Given the description of an element on the screen output the (x, y) to click on. 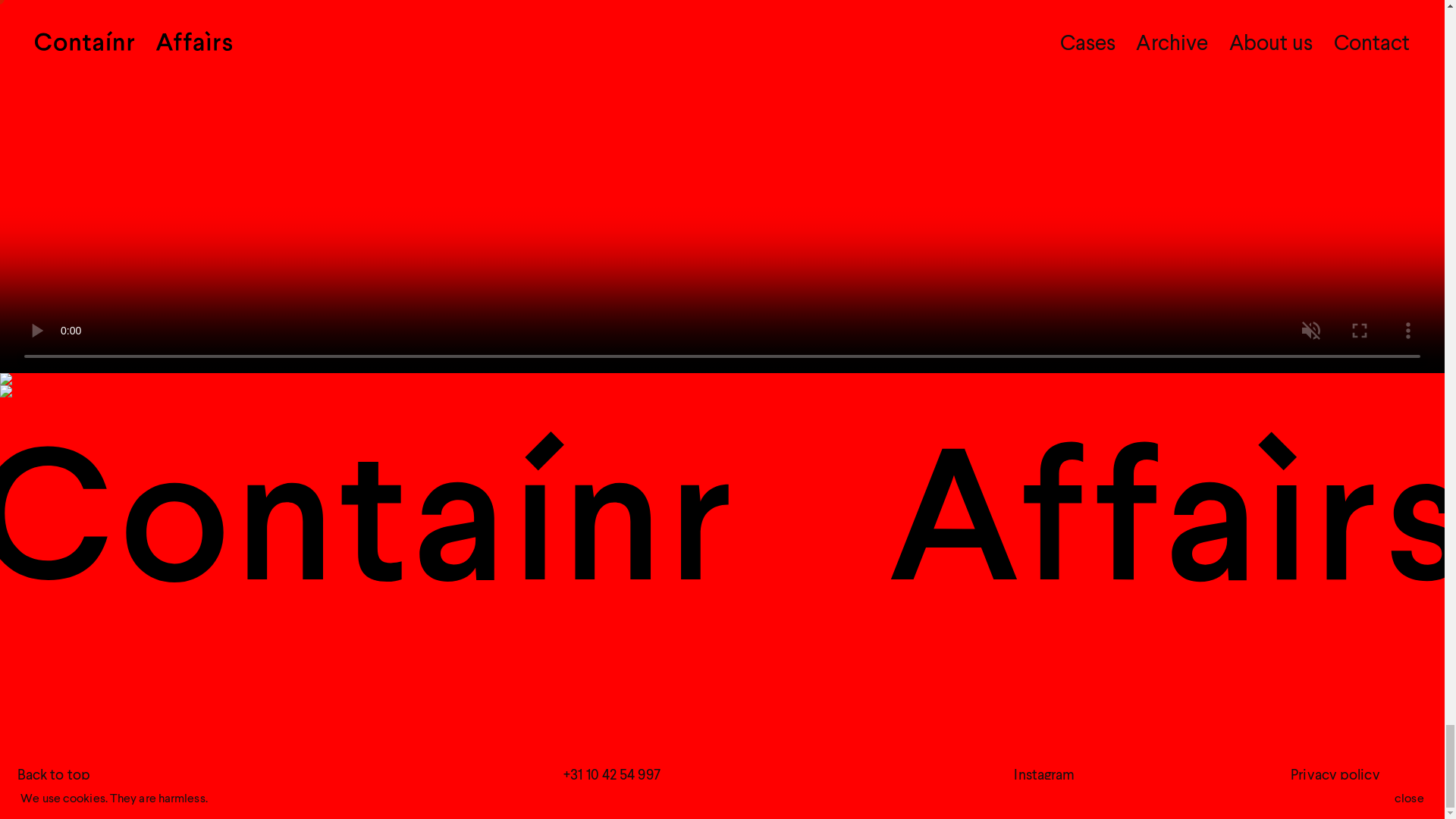
Privacy policy (1334, 775)
Back to top (53, 775)
Linkedin (1040, 798)
Instagram (1043, 775)
Sign up for our newsletter (97, 798)
Terms and conditions (1358, 798)
